Given the description of an element on the screen output the (x, y) to click on. 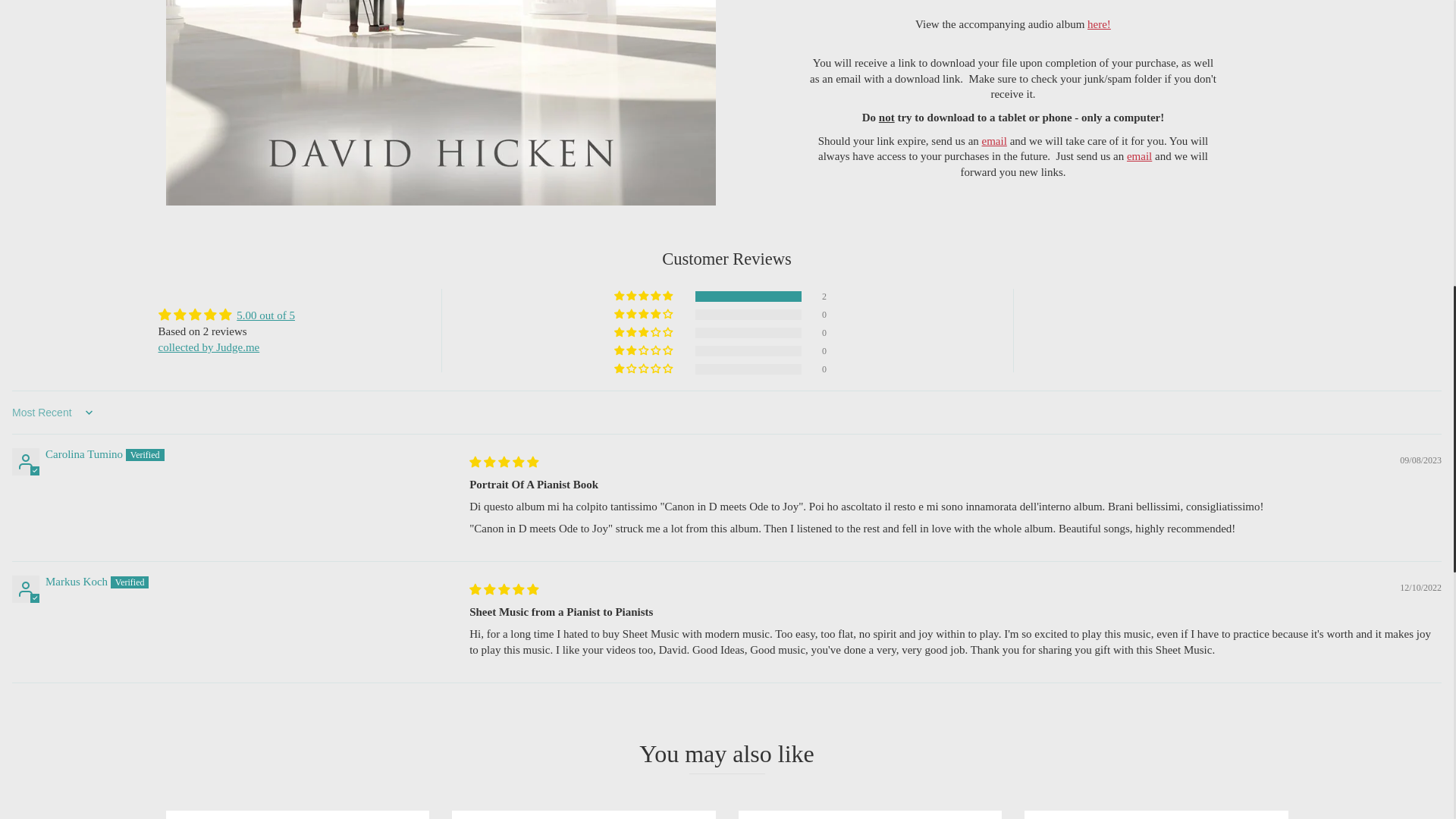
Tales From Siam Book (1156, 814)
Serenity Book (297, 814)
Sagas Book (583, 814)
Stories Of You Book (870, 814)
Portrait Of A Pianist MP3 Album (1098, 24)
